Given the description of an element on the screen output the (x, y) to click on. 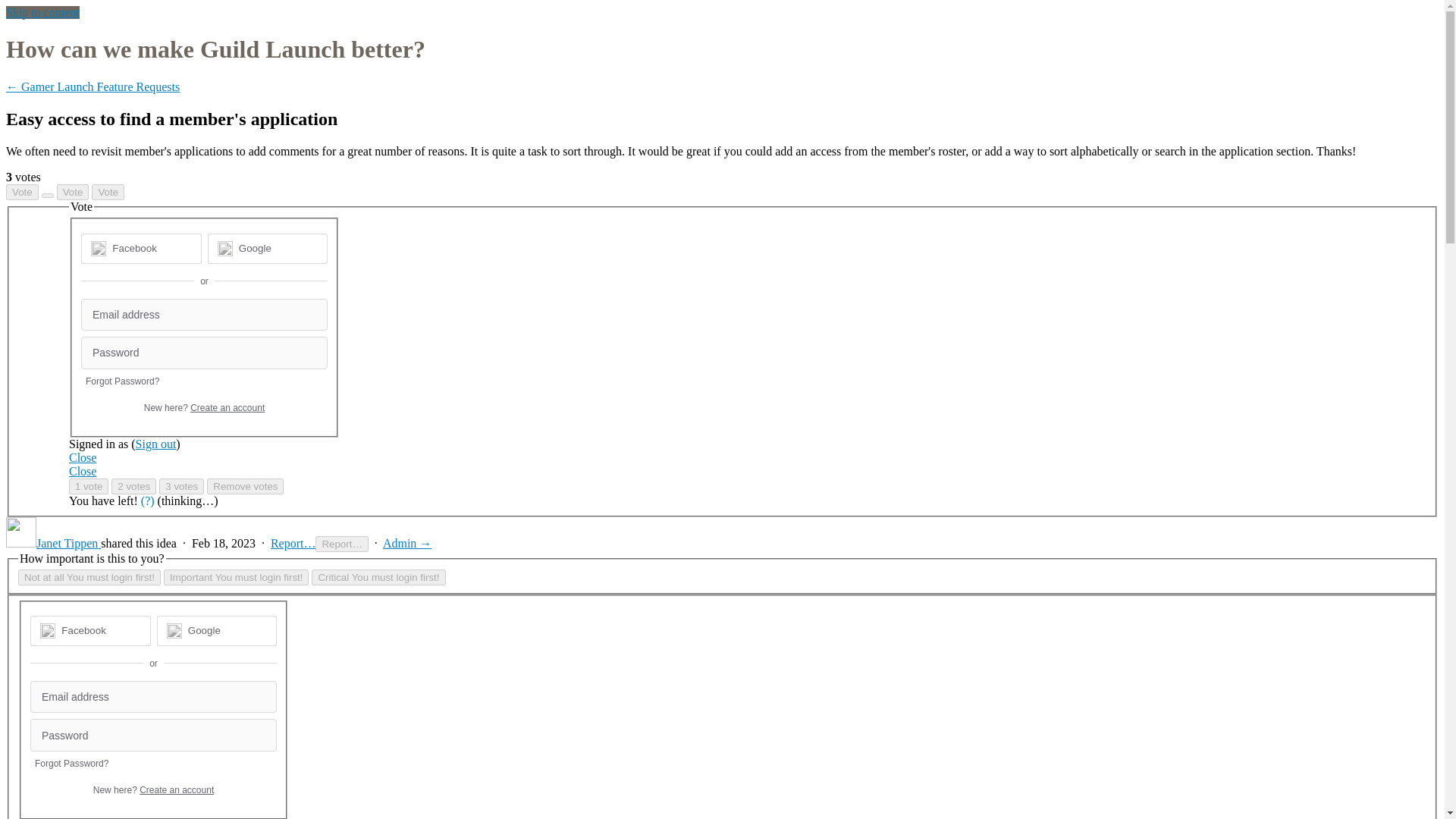
2 votes (133, 486)
Not at all You must login first! (88, 577)
Facebook sign in (141, 248)
Forgot Password? (122, 381)
Google (215, 630)
Forgot Password? (71, 763)
Voting has closed (107, 191)
New here? Create an account (204, 407)
3 votes (180, 486)
You're out of votes (72, 191)
Facebook (141, 248)
Facebook (134, 247)
Skip to content (42, 11)
Close (82, 471)
Google sign in (215, 630)
